Given the description of an element on the screen output the (x, y) to click on. 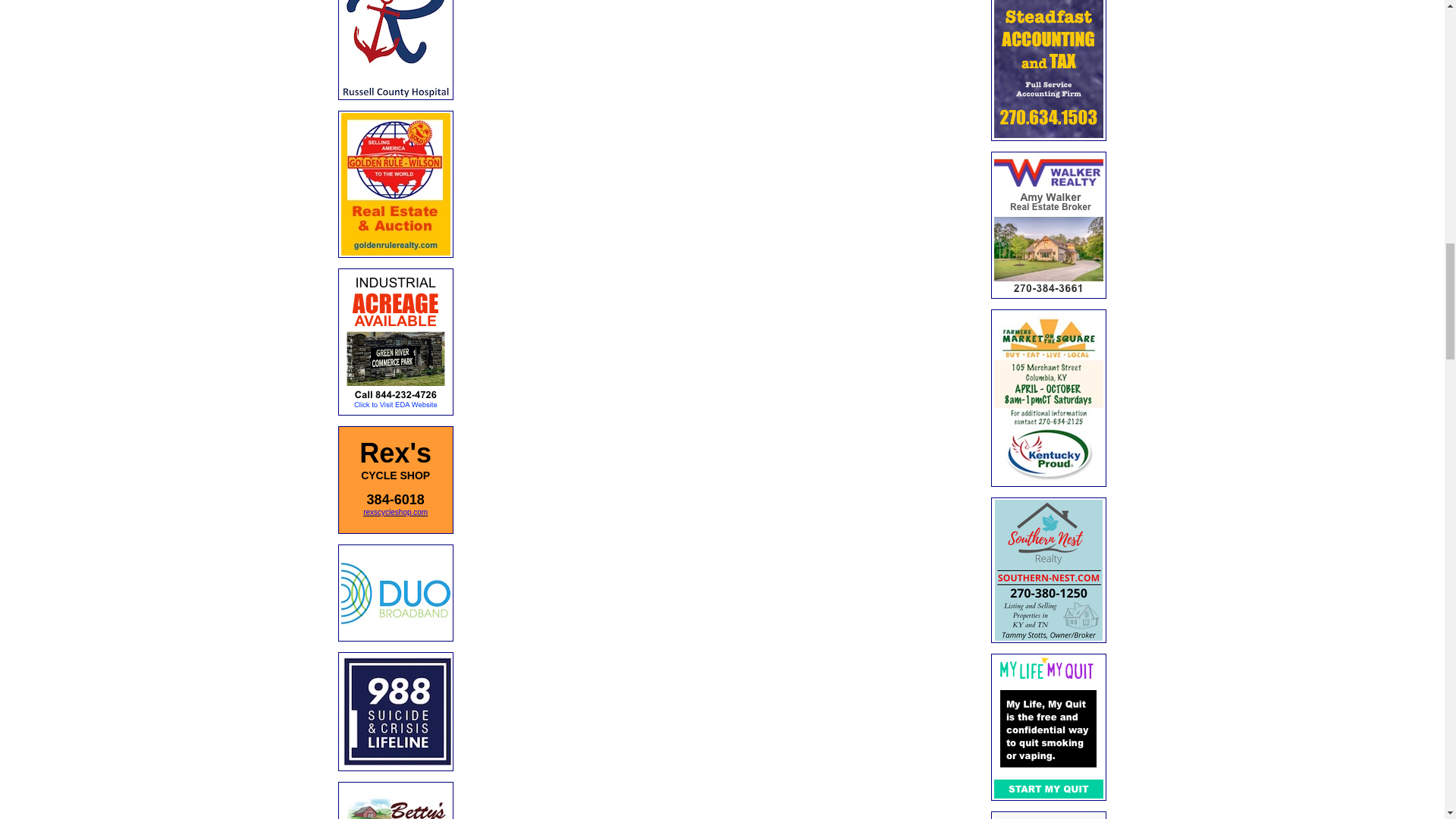
rexscycleshop.com (395, 511)
